Given the description of an element on the screen output the (x, y) to click on. 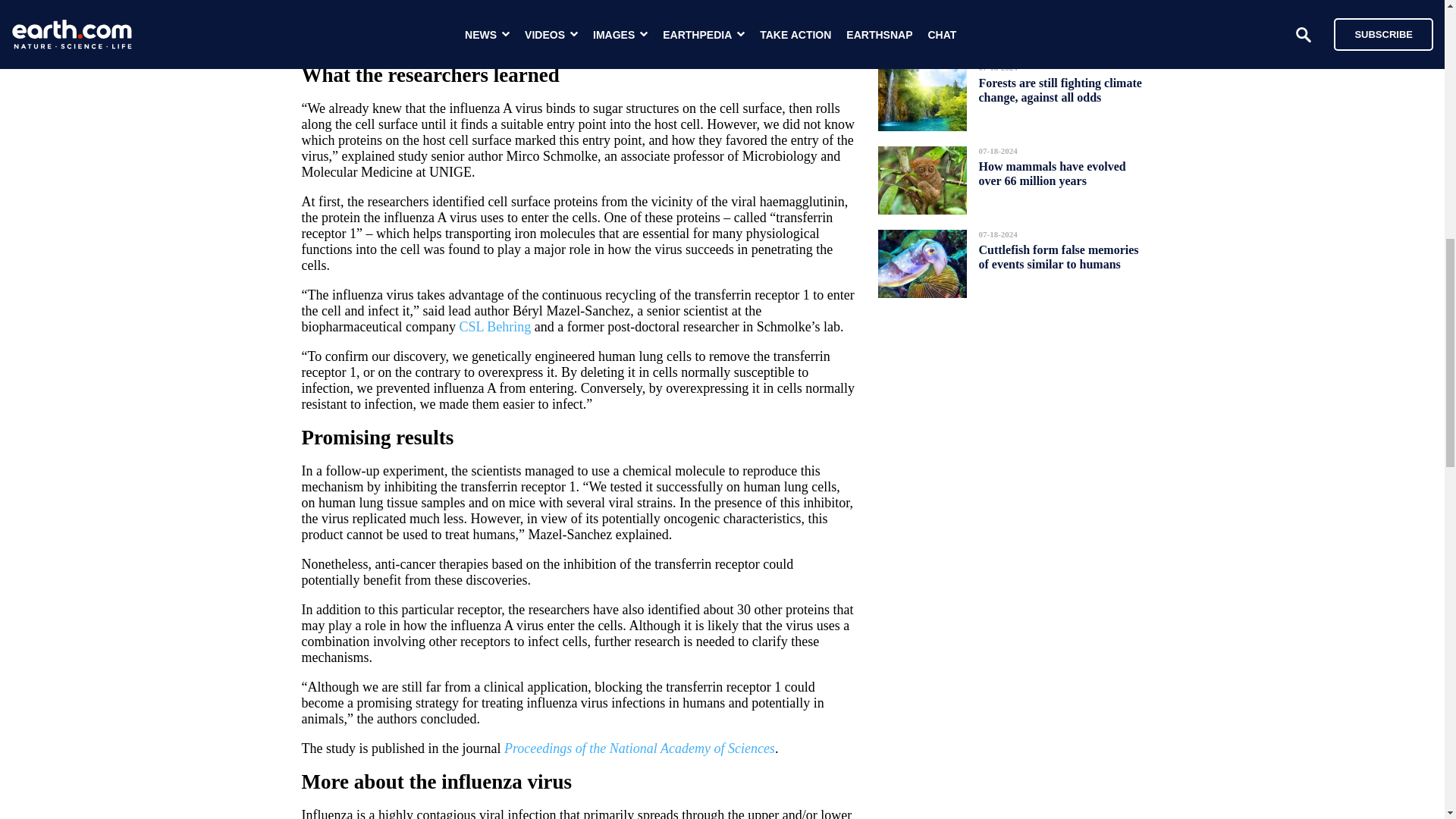
Sea sawdust: Unexpected diet of crown-of-thorns starfish (1054, 13)
Proceedings of the National Academy of Sciences (638, 748)
CSL Behring (494, 326)
Forests are still fighting climate change, against all odds (1059, 89)
